Given the description of an element on the screen output the (x, y) to click on. 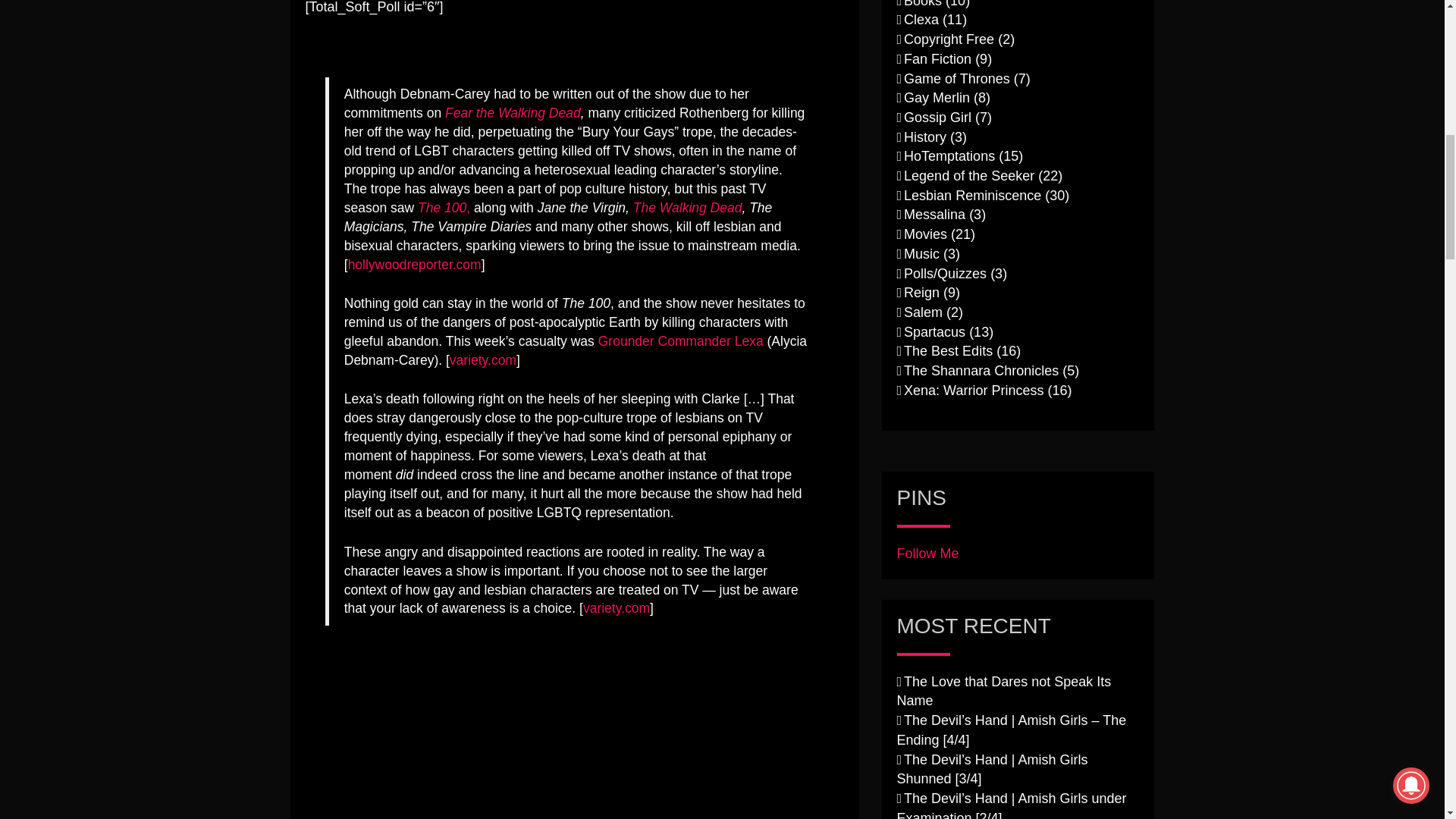
hollywoodreporter.com (414, 264)
Grounder Commander Lexa (680, 340)
The Walking Dead (687, 207)
lexa's death reaction (486, 722)
variety.com (616, 607)
variety.com (482, 359)
Fear the Walking Dead (512, 112)
The 100 (443, 207)
The 100, (443, 207)
